Given the description of an element on the screen output the (x, y) to click on. 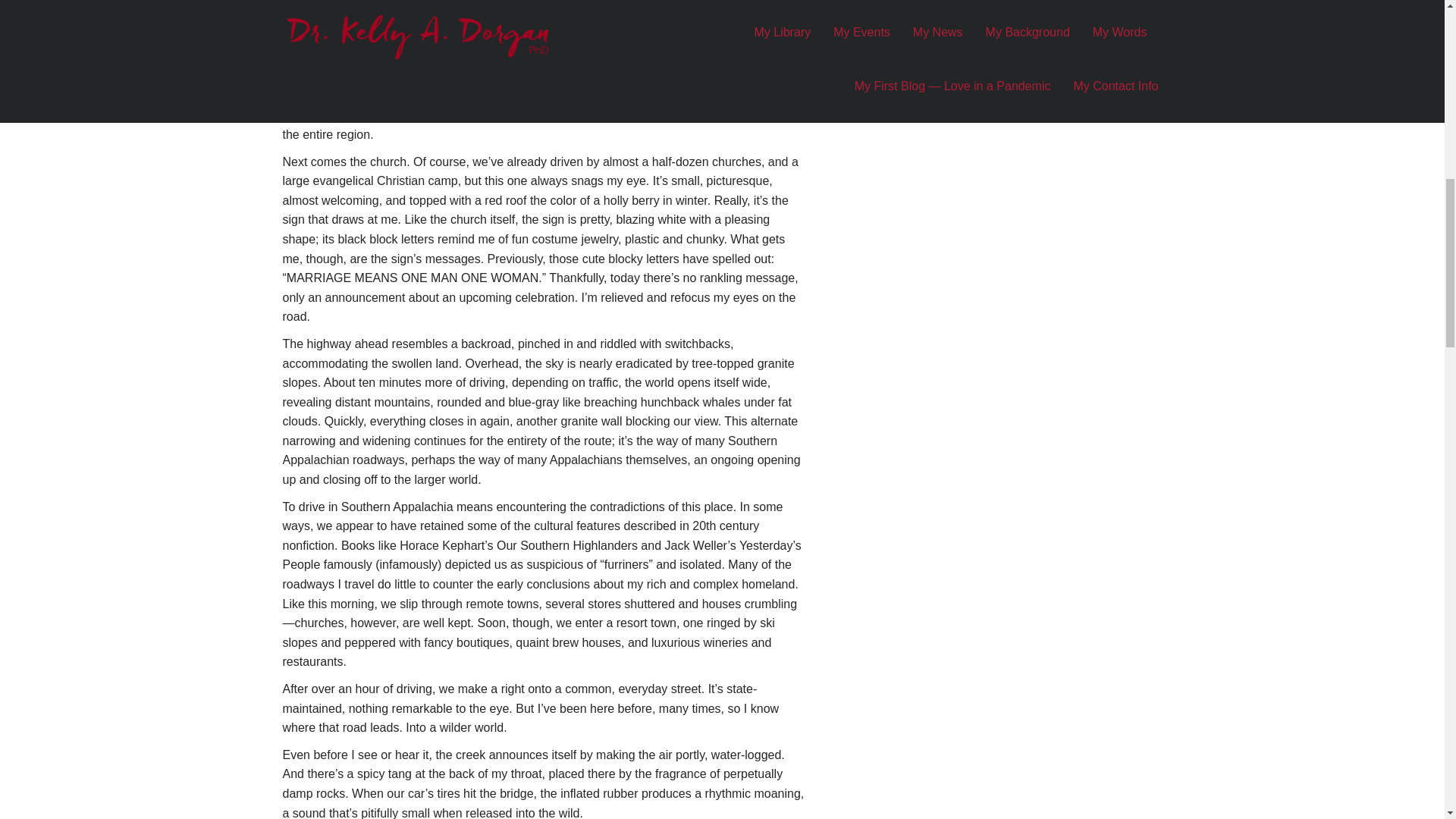
Big Mama and the Uncertain Leap (968, 83)
